Given the description of an element on the screen output the (x, y) to click on. 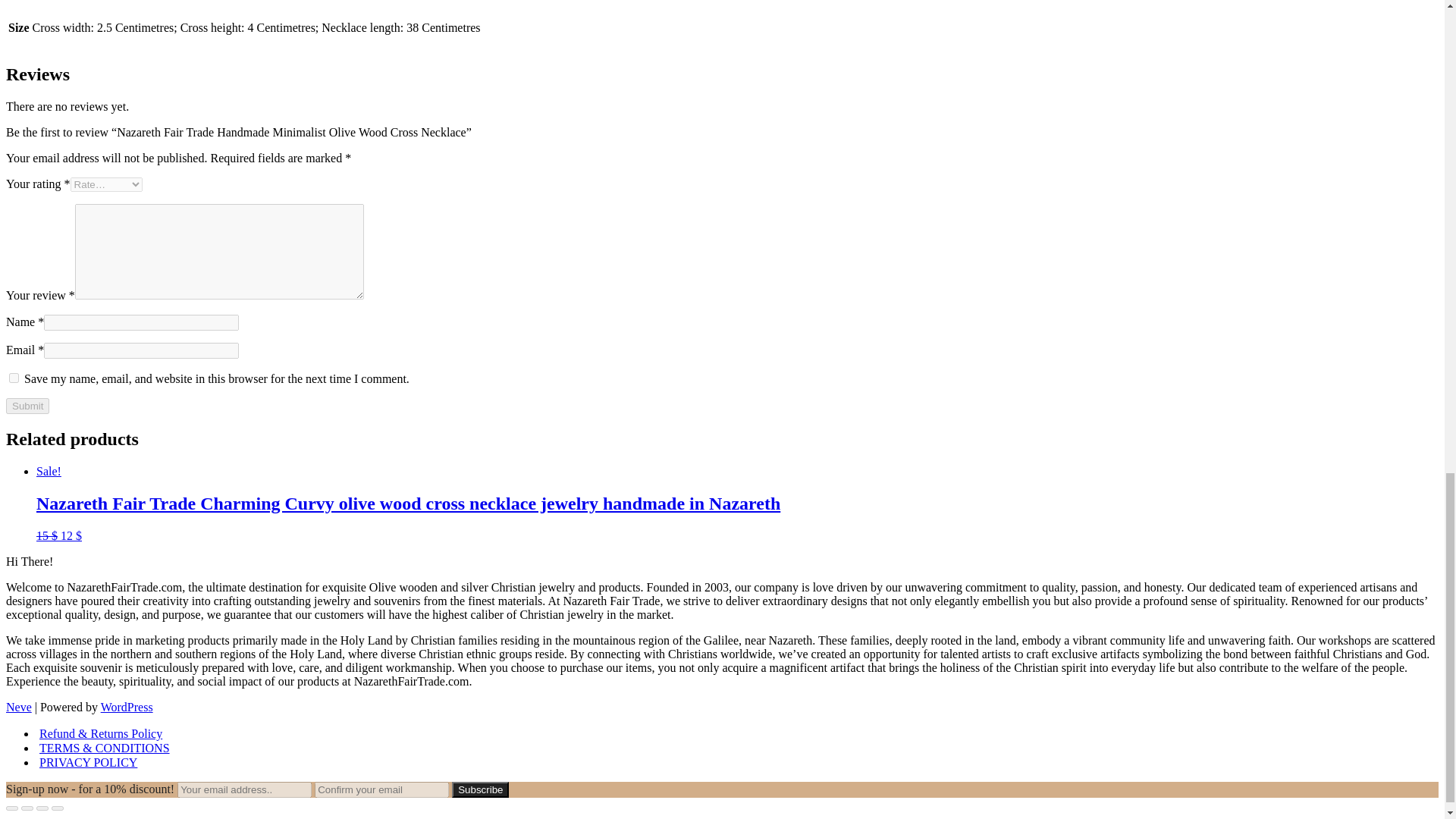
yes (13, 378)
Submit (27, 406)
PRIVACY POLICY (87, 762)
Submit (27, 406)
Subscribe (479, 789)
Neve (18, 707)
Subscribe (479, 789)
WordPress (126, 707)
